Given the description of an element on the screen output the (x, y) to click on. 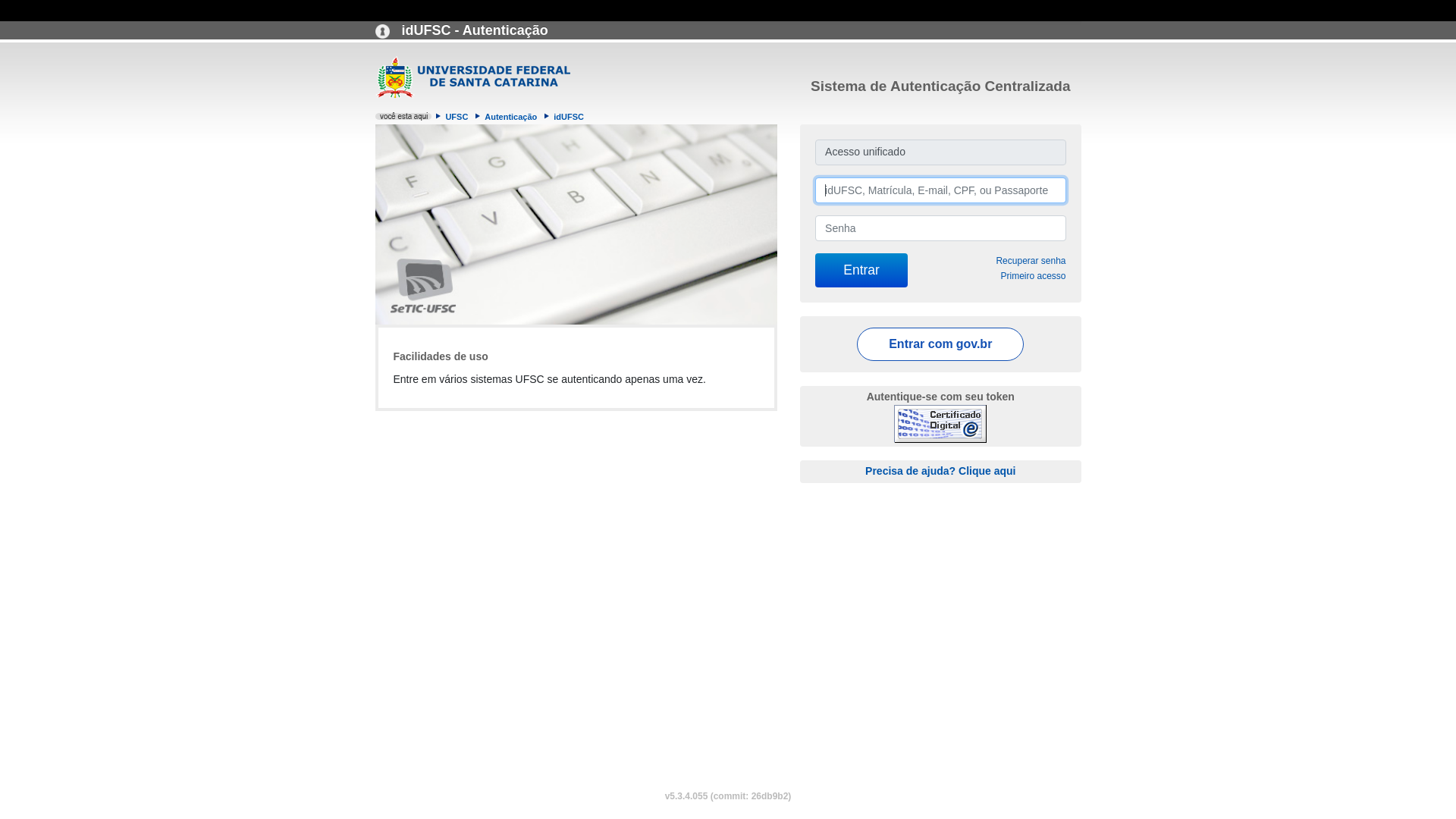
Entrar com
gov.br Element type: text (939, 343)
idUFSC Element type: text (568, 116)
UFSC Element type: text (456, 116)
Primeiro acesso Element type: text (1032, 275)
Entrar Element type: text (861, 270)
Recuperar senha Element type: text (1030, 260)
Precisa de ajuda? Clique aqui Element type: text (940, 470)
